Given the description of an element on the screen output the (x, y) to click on. 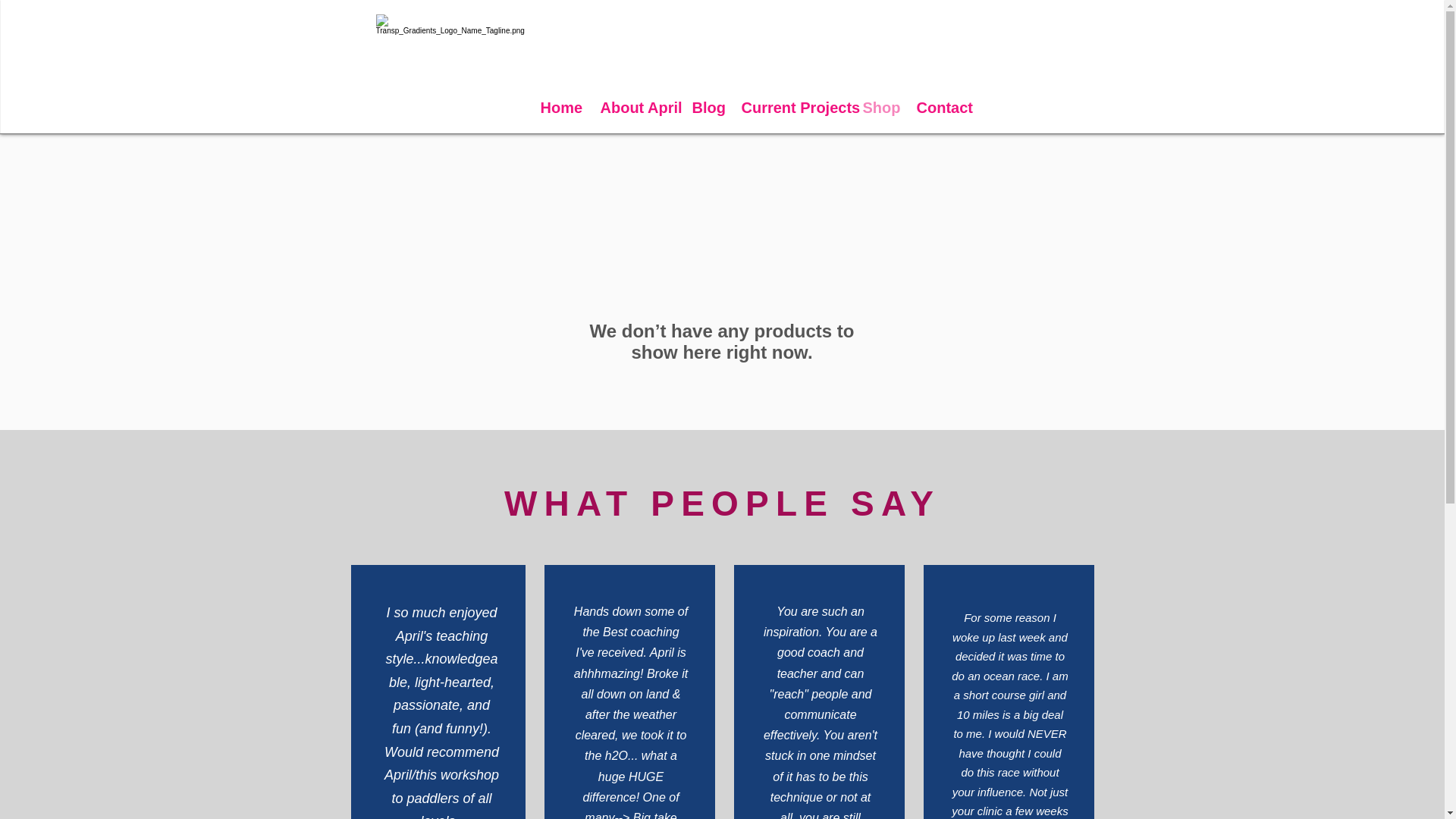
About April (633, 107)
Home (559, 107)
Current Projects (789, 107)
Contact (941, 107)
Shop (877, 107)
Blog (705, 107)
